Given the description of an element on the screen output the (x, y) to click on. 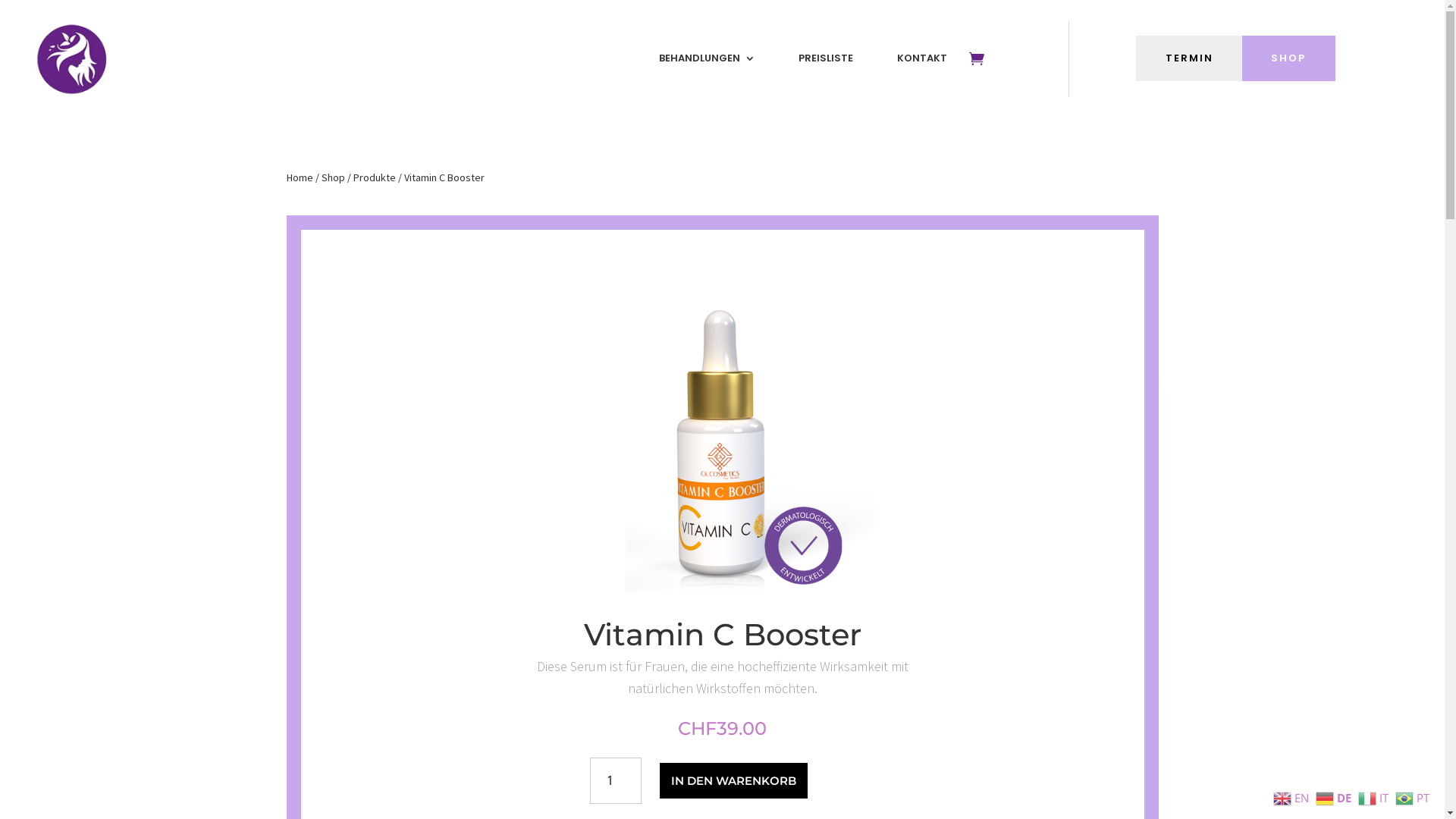
Shop Element type: text (333, 177)
PREISLISTE Element type: text (825, 58)
Menge Element type: hover (615, 780)
KONTAKT Element type: text (922, 58)
IT Element type: text (1375, 797)
EN Element type: text (1292, 797)
SHOP Element type: text (1288, 58)
DE Element type: text (1335, 797)
BEHANDLUNGEN Element type: text (706, 58)
PT Element type: text (1414, 797)
Home Element type: text (299, 177)
IN DEN WARENKORB Element type: text (733, 780)
TERMIN Element type: text (1188, 58)
Produkte Element type: text (374, 177)
vitaminc_web Element type: hover (721, 441)
